Given the description of an element on the screen output the (x, y) to click on. 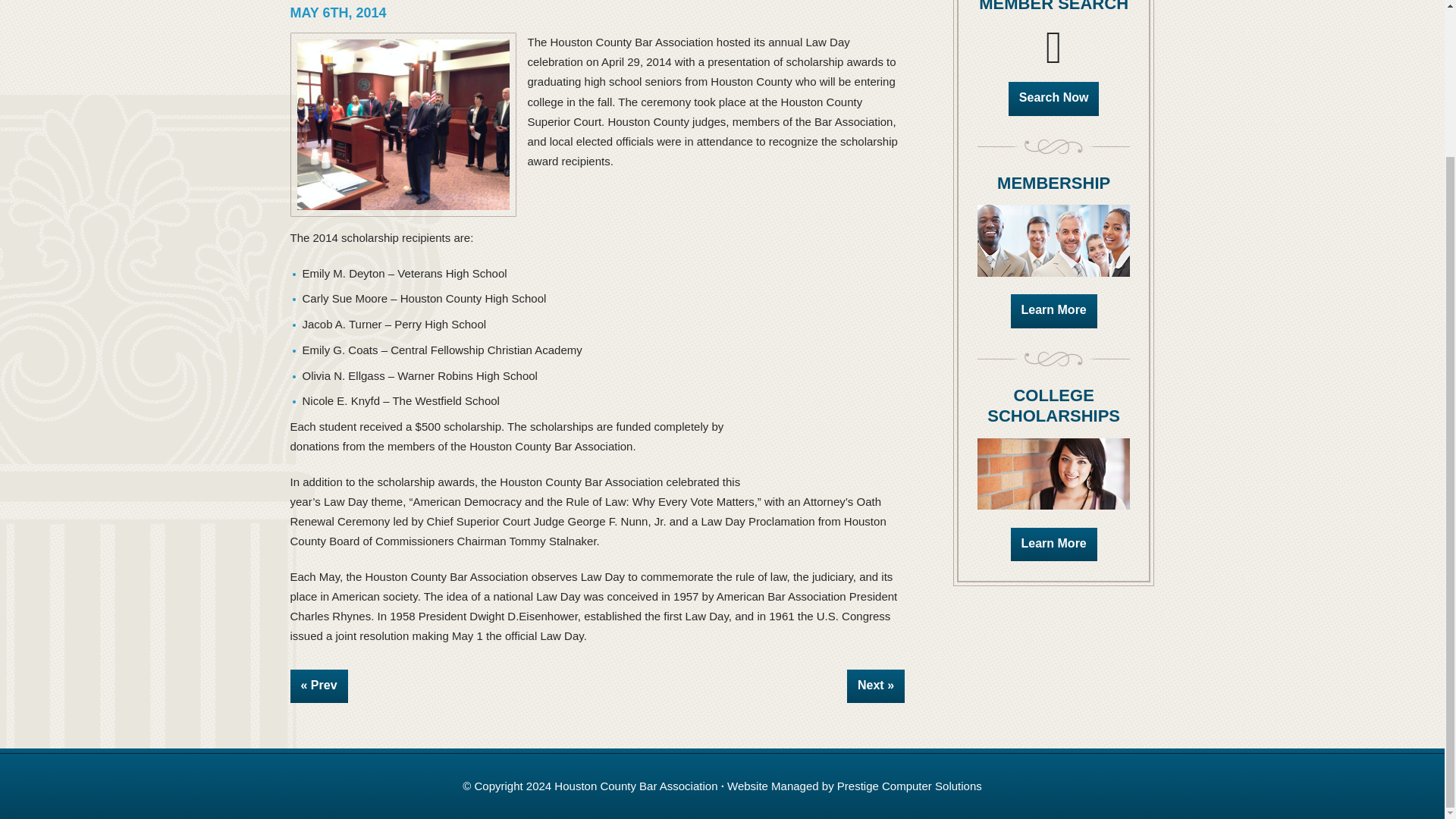
Search Now (1054, 98)
Houston County Bar Association (635, 785)
Website Managed by Prestige Computer Solutions (853, 785)
Learn More (1053, 544)
Learn More (1053, 310)
